Given the description of an element on the screen output the (x, y) to click on. 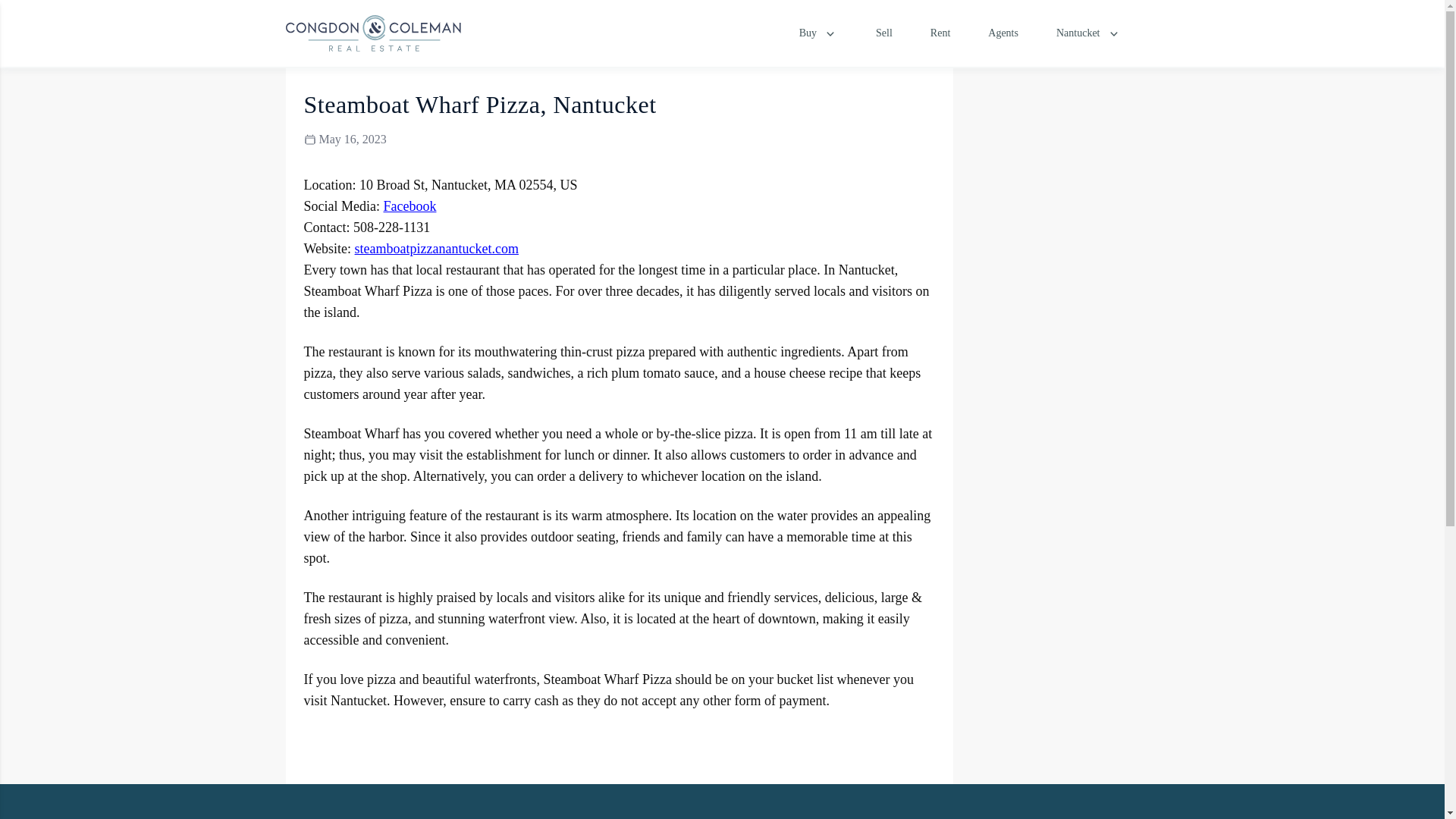
Facebook (408, 206)
Sell (884, 32)
steamboatpizzanantucket.com (436, 248)
Agents (1002, 32)
Rent (940, 32)
